Given the description of an element on the screen output the (x, y) to click on. 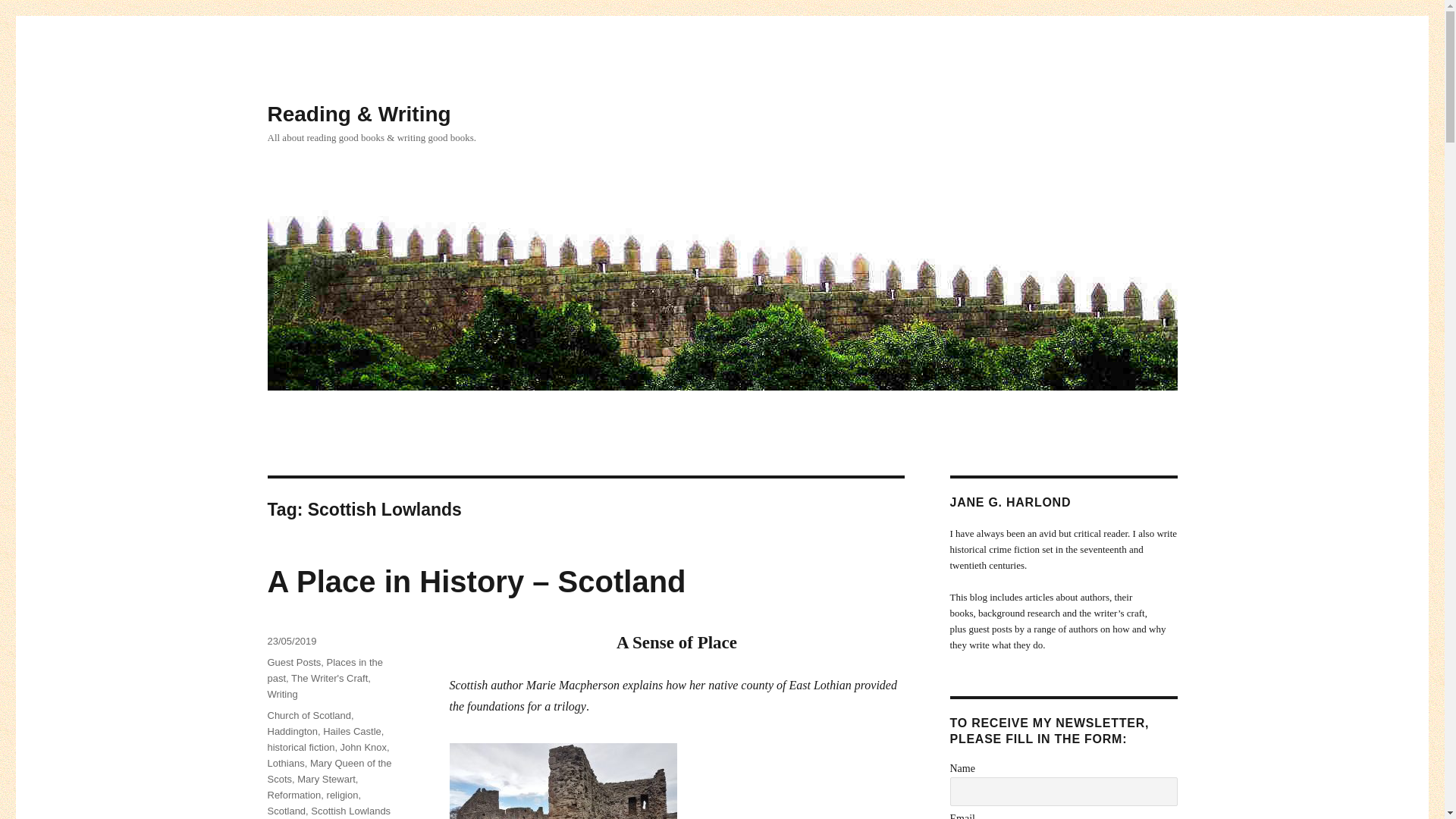
Places in the past (323, 669)
Writing (281, 694)
religion (342, 794)
Hailes Castle (352, 731)
The Writer's Craft (329, 677)
Lothians (285, 763)
Mary Stewart (326, 778)
Guest Posts (293, 662)
historical fiction (300, 747)
Scotland (285, 810)
